Given the description of an element on the screen output the (x, y) to click on. 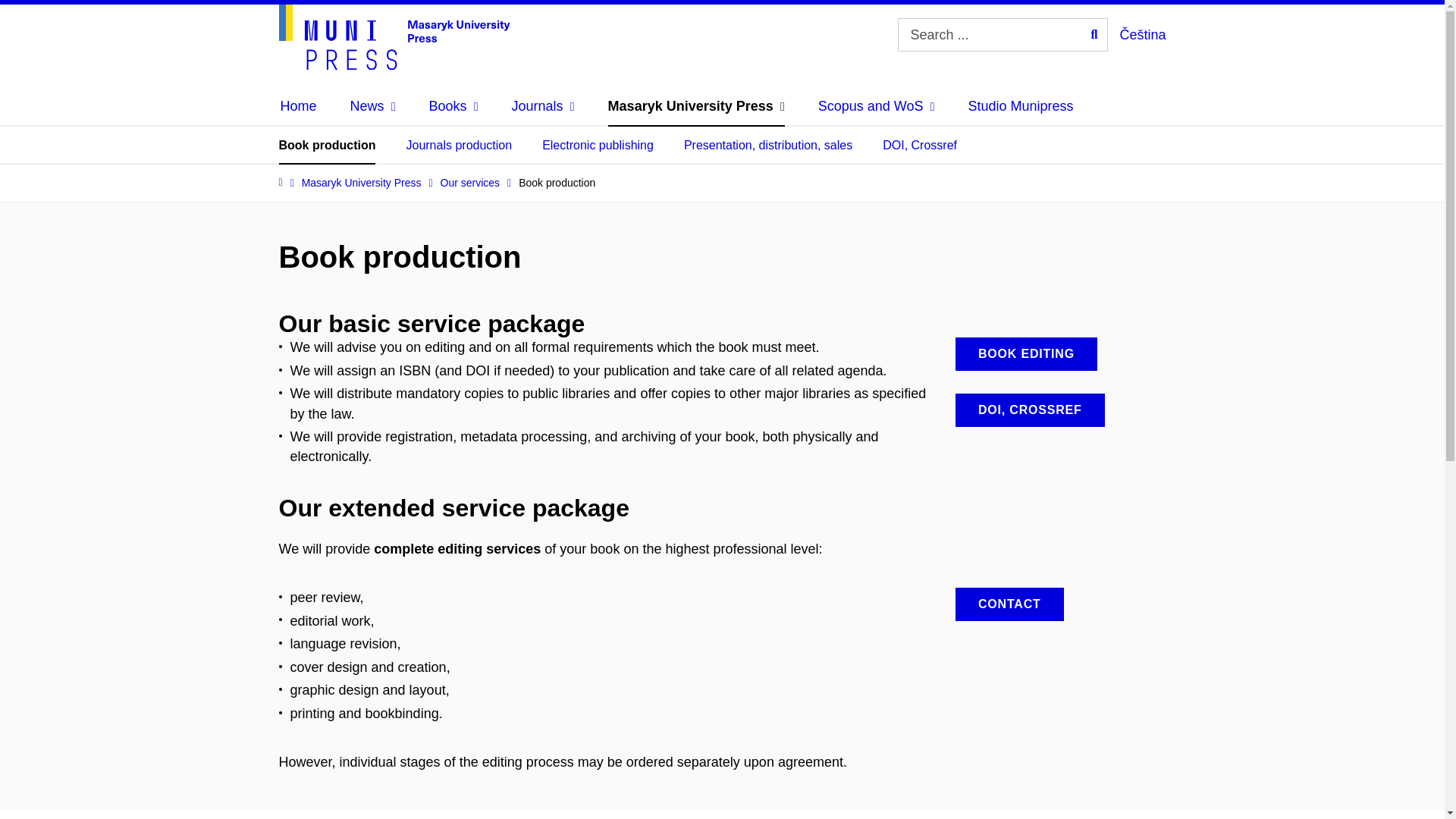
Books (454, 105)
Journals (543, 105)
Homepage site (394, 36)
Home (299, 105)
Masaryk University Press (696, 105)
News (373, 105)
